Given the description of an element on the screen output the (x, y) to click on. 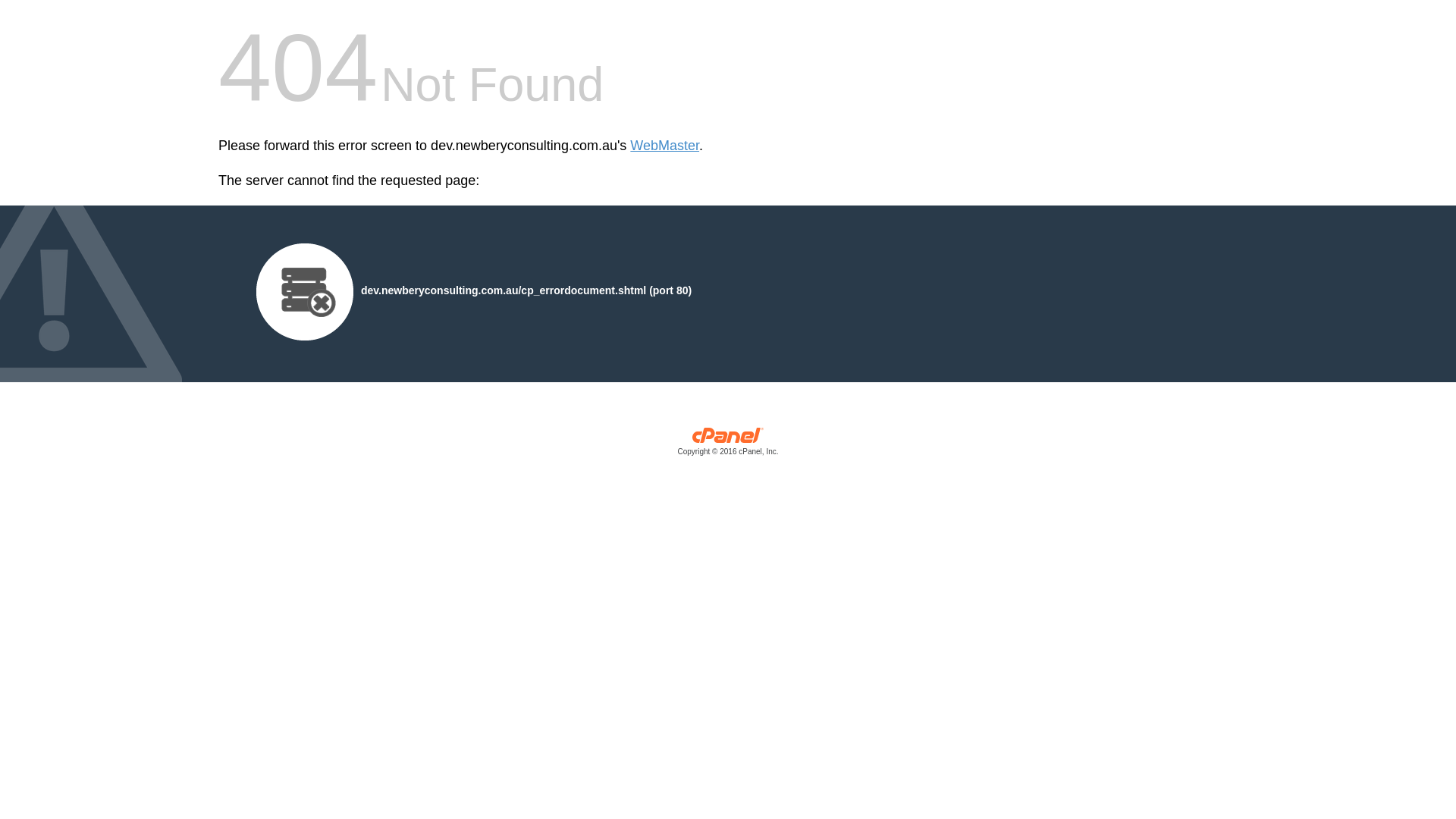
WebMaster Element type: text (664, 145)
